Given the description of an element on the screen output the (x, y) to click on. 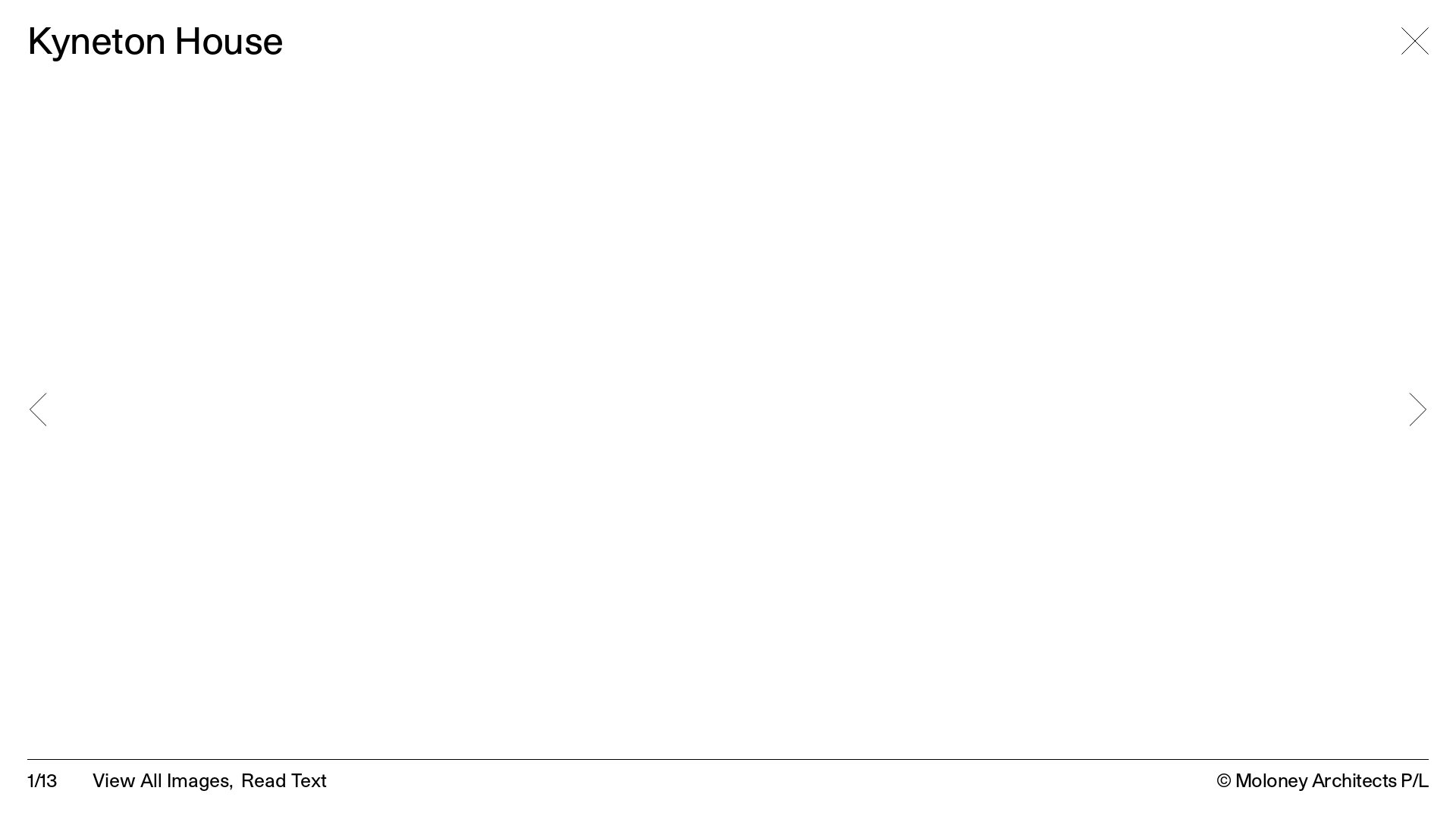
Kyneton House Element type: hover (728, 409)
View All Images Element type: text (160, 779)
Read Text Element type: text (283, 779)
